Given the description of an element on the screen output the (x, y) to click on. 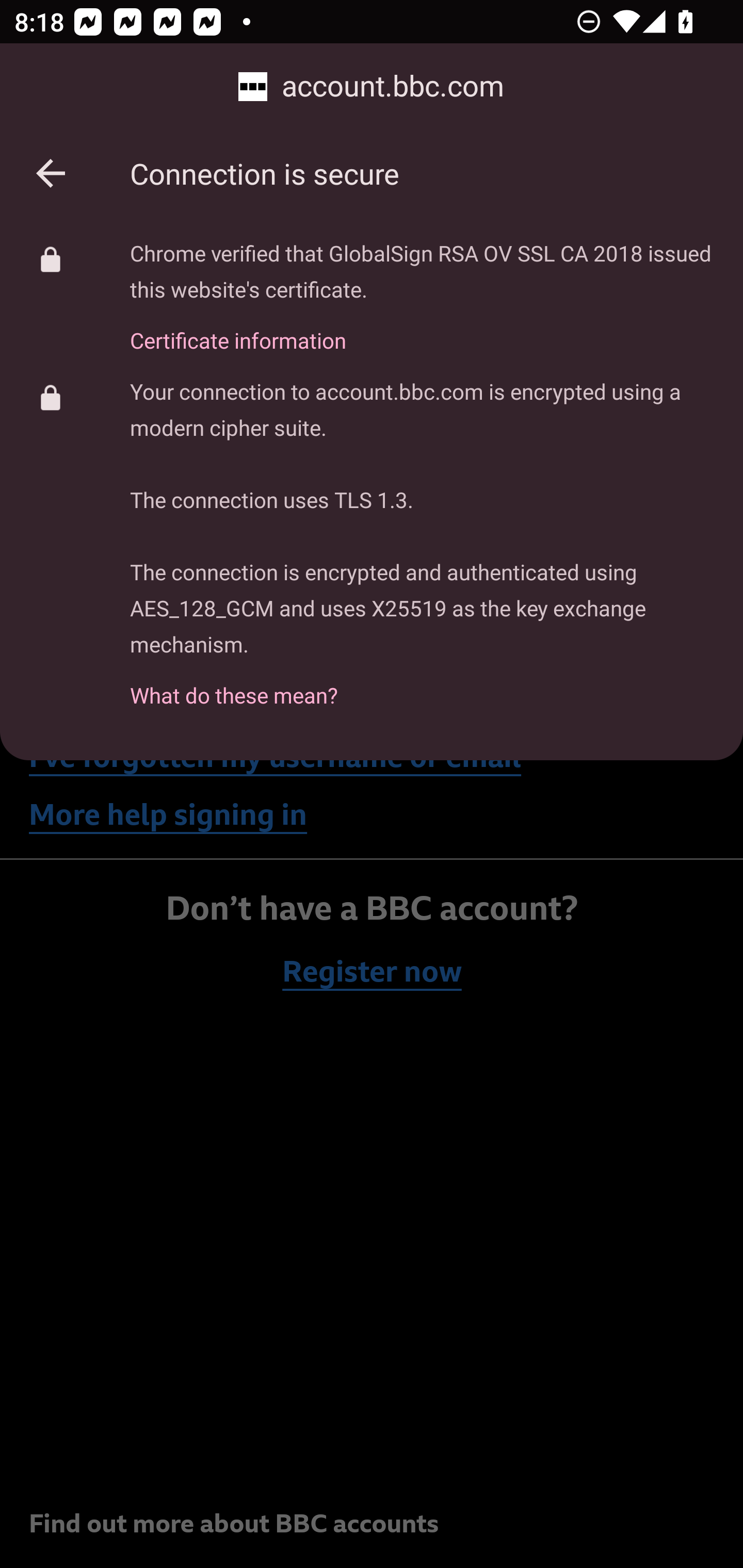
account.bbc.com (371, 86)
Back (50, 173)
Certificate information (422, 329)
What do these mean? (422, 684)
